Given the description of an element on the screen output the (x, y) to click on. 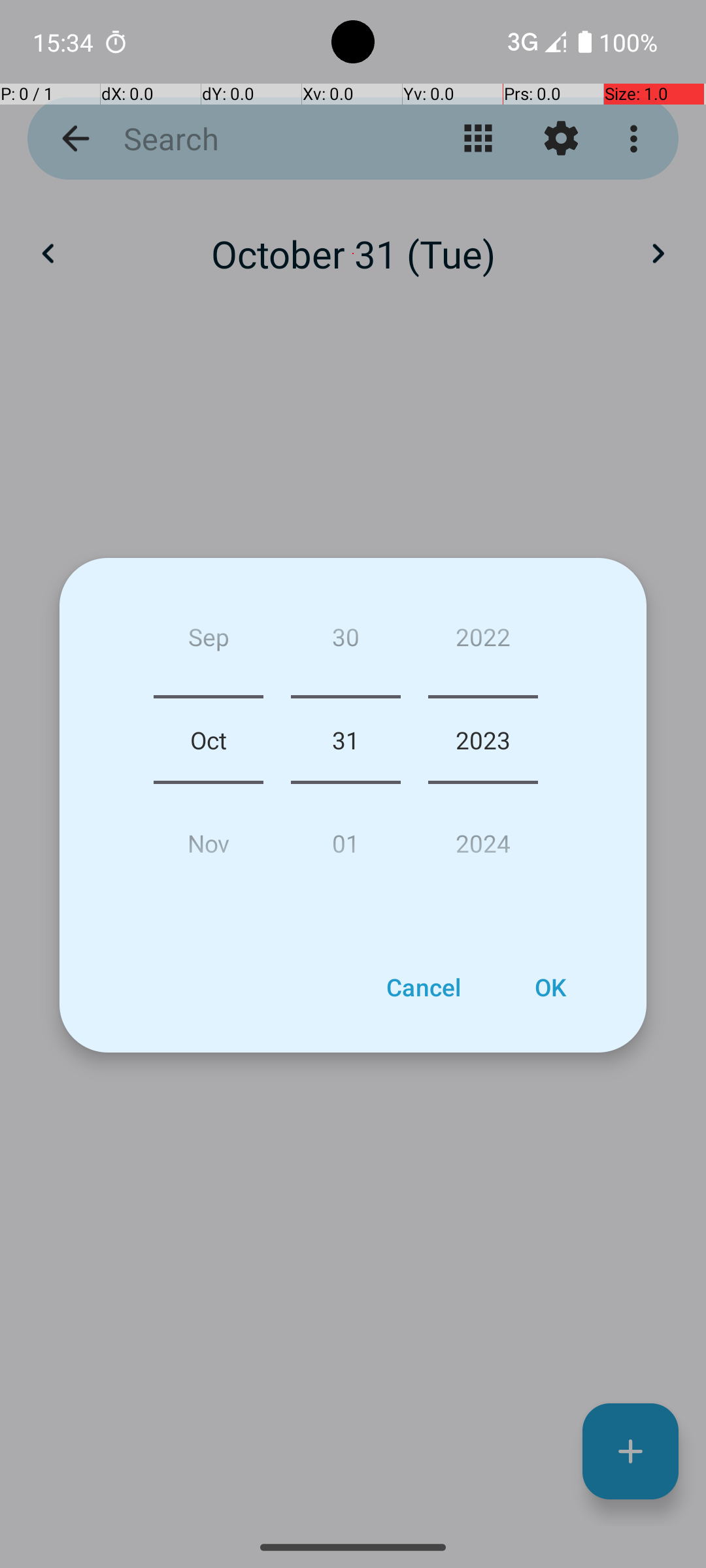
Nov Element type: android.widget.Button (208, 837)
01 Element type: android.widget.Button (345, 837)
